Given the description of an element on the screen output the (x, y) to click on. 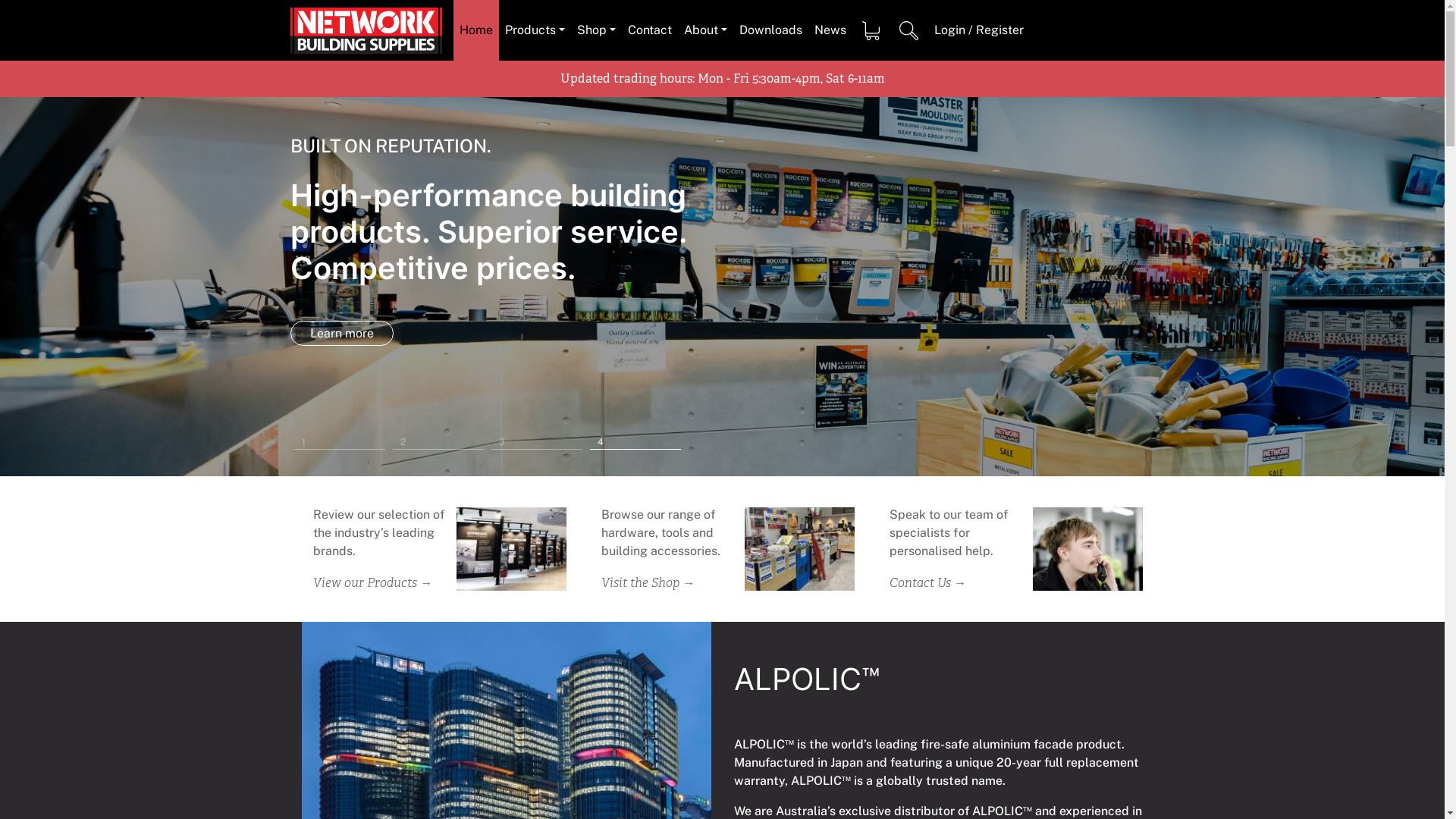
Updated trading hours: Mon - Fri 5:30am-4pm, Sat 6-11am Element type: text (721, 78)
Products Element type: text (534, 30)
Learn more Element type: text (340, 332)
  Element type: text (871, 30)
Shop Element type: text (596, 30)
  Element type: text (909, 30)
About Element type: text (705, 30)
Contact Element type: text (649, 30)
Home Element type: text (475, 30)
Login / Register Element type: text (978, 30)
News Element type: text (830, 30)
Downloads Element type: text (770, 30)
